Given the description of an element on the screen output the (x, y) to click on. 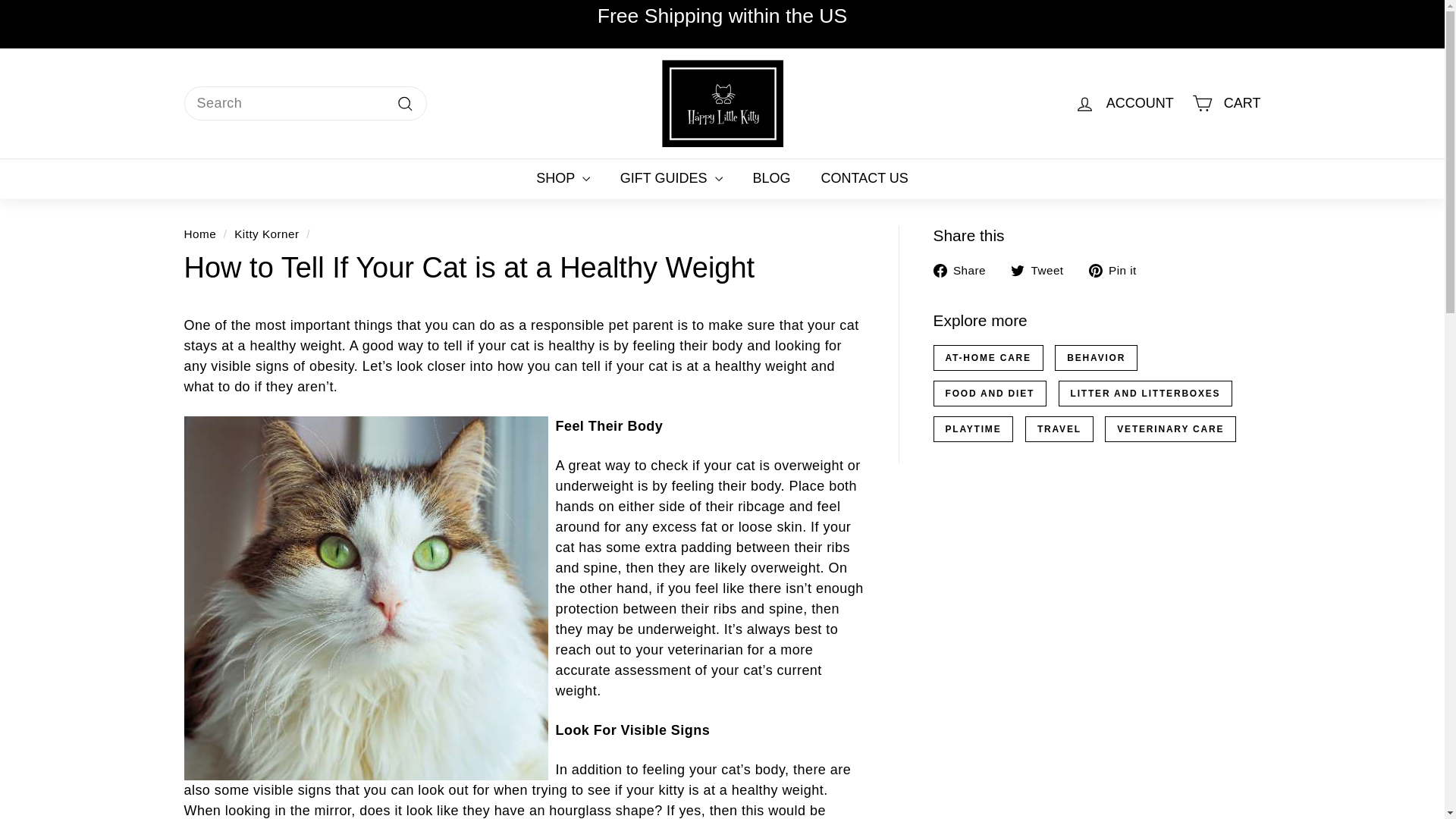
twitter (1017, 270)
Share on Facebook (965, 270)
Pin on Pinterest (1118, 270)
ACCOUNT (1123, 103)
CART (1225, 103)
Tweet on Twitter (1042, 270)
Back to the frontpage (199, 233)
